Given the description of an element on the screen output the (x, y) to click on. 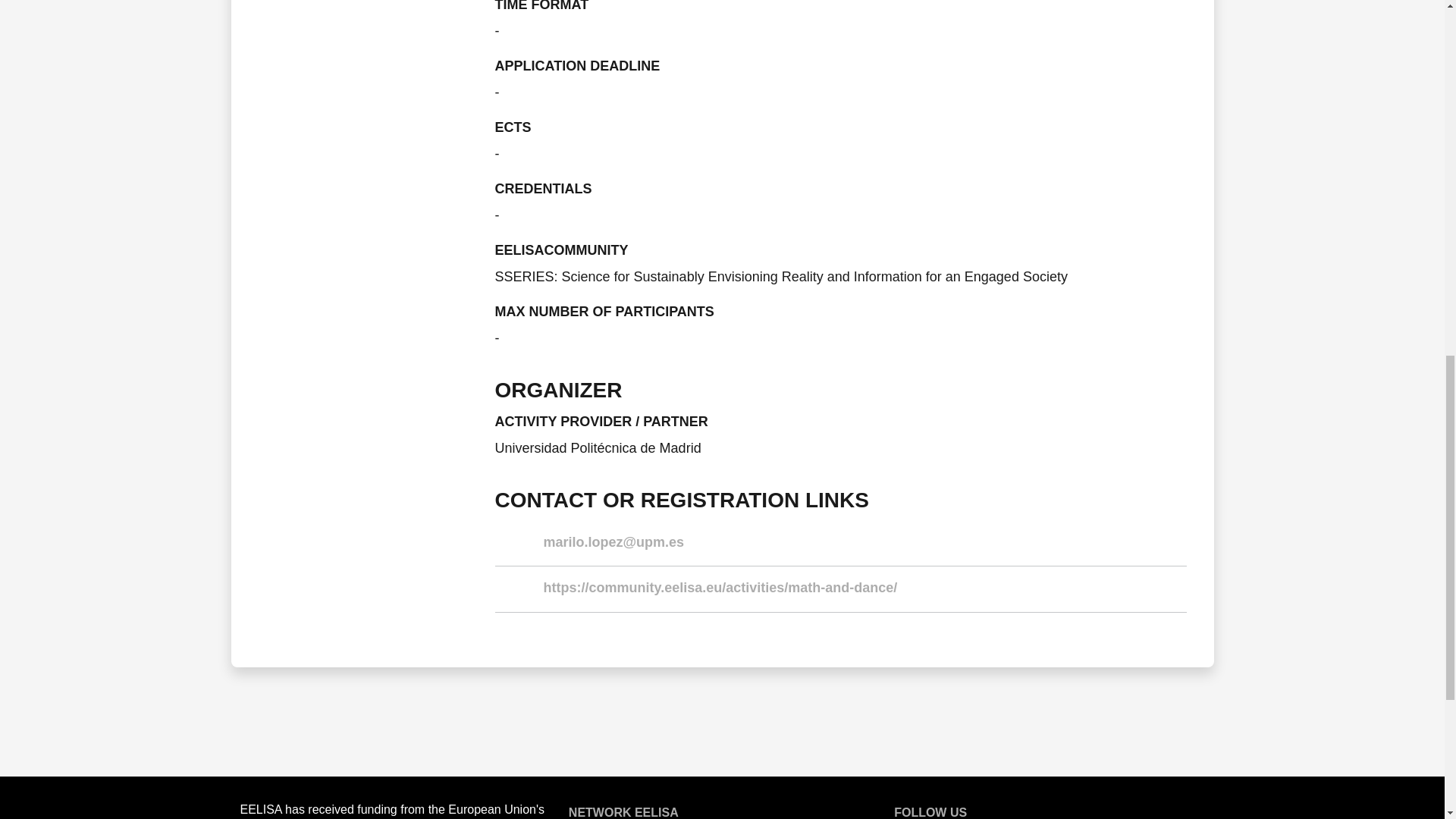
Go to page: Follow us (929, 812)
FOLLOW US (929, 812)
NETWORK EELISA (623, 812)
Go to page (623, 812)
